Given the description of an element on the screen output the (x, y) to click on. 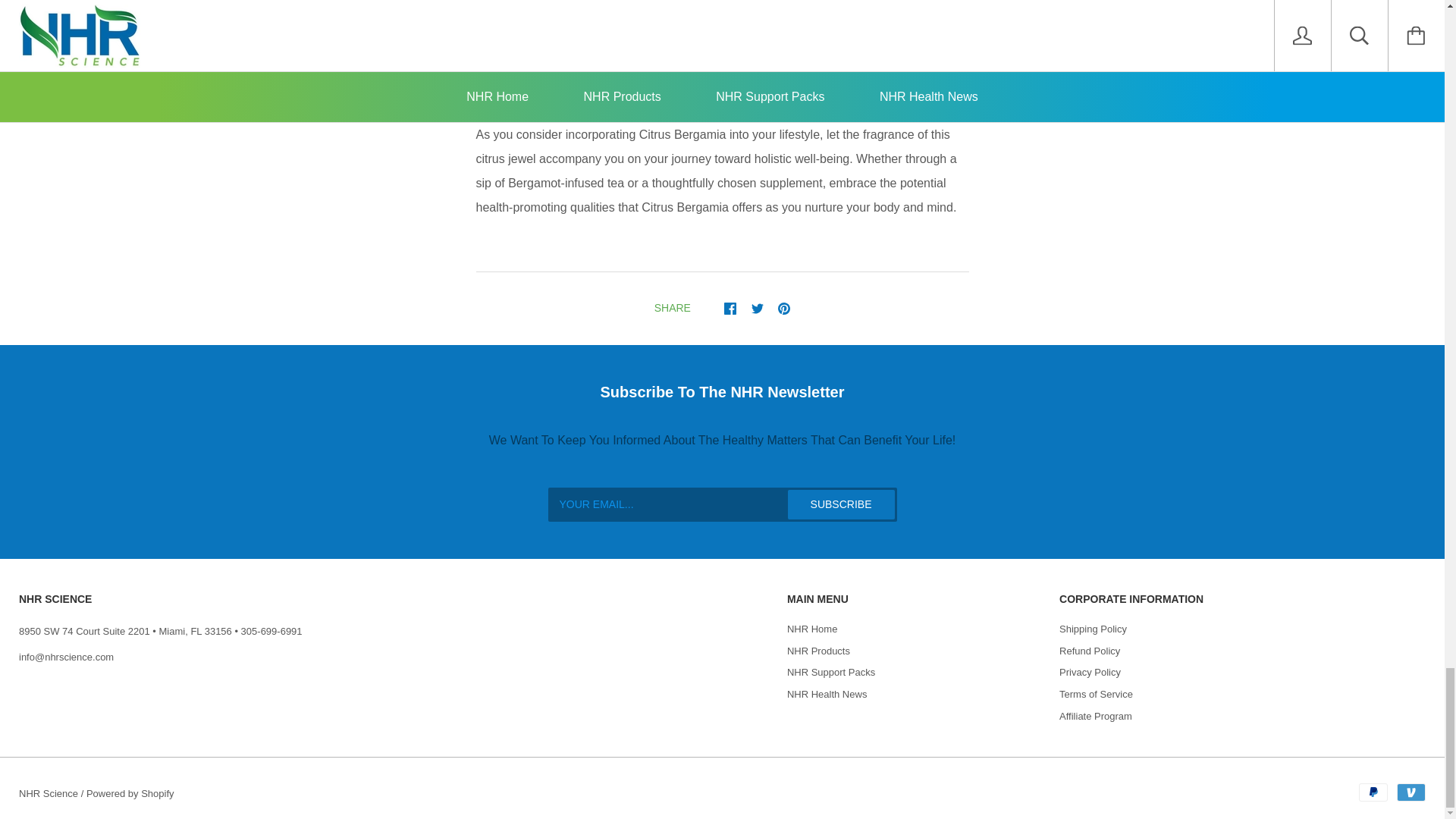
Venmo (1410, 791)
PayPal (1372, 791)
Subscribe (841, 504)
